Given the description of an element on the screen output the (x, y) to click on. 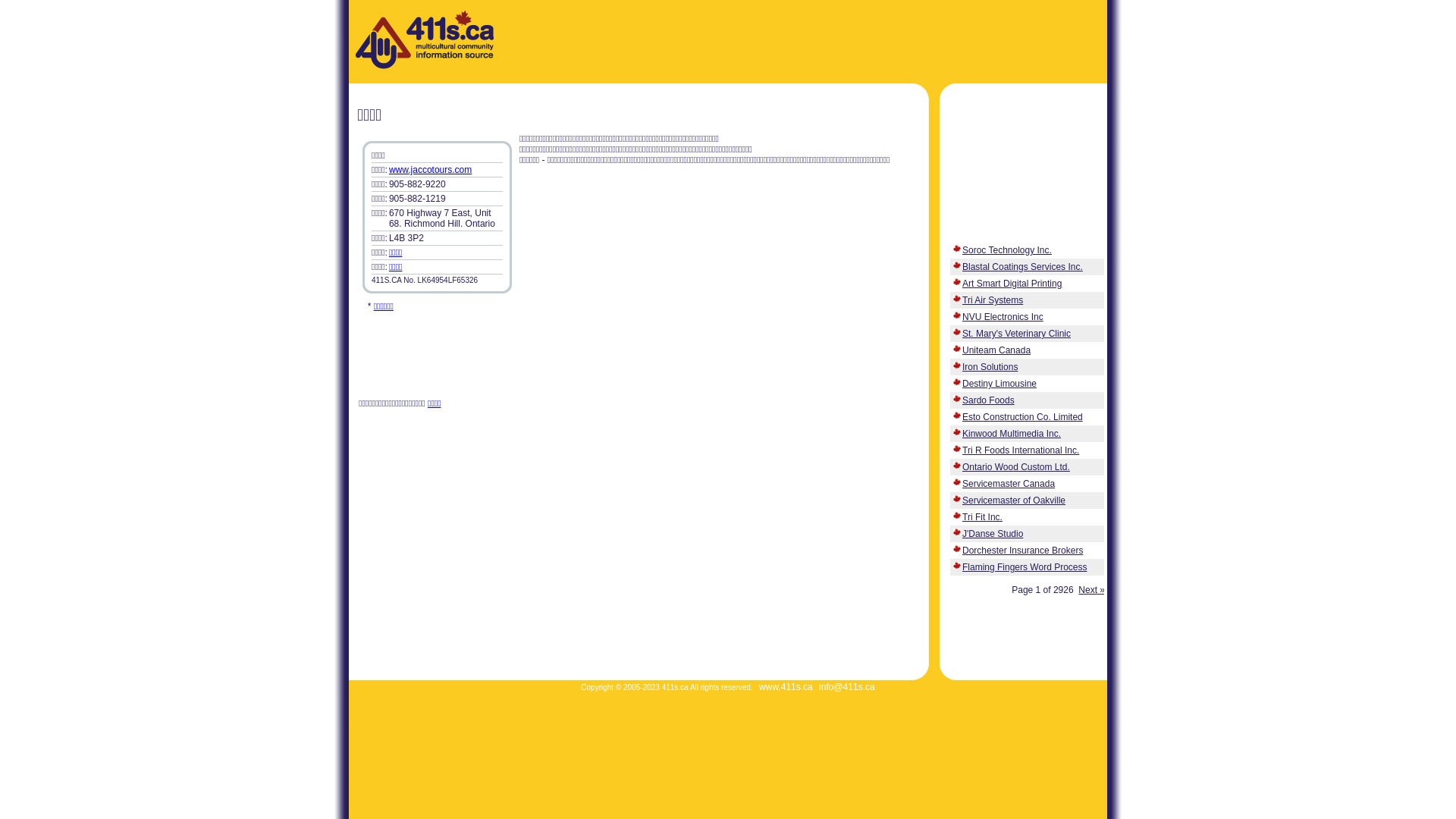
info@411s.ca Element type: text (847, 686)
www.411s.ca Element type: text (785, 686)
Advertisement Element type: hover (789, 271)
www.jaccotours.com Element type: text (430, 169)
Advertisement Element type: hover (799, 41)
Advertisement Element type: hover (636, 450)
